Given the description of an element on the screen output the (x, y) to click on. 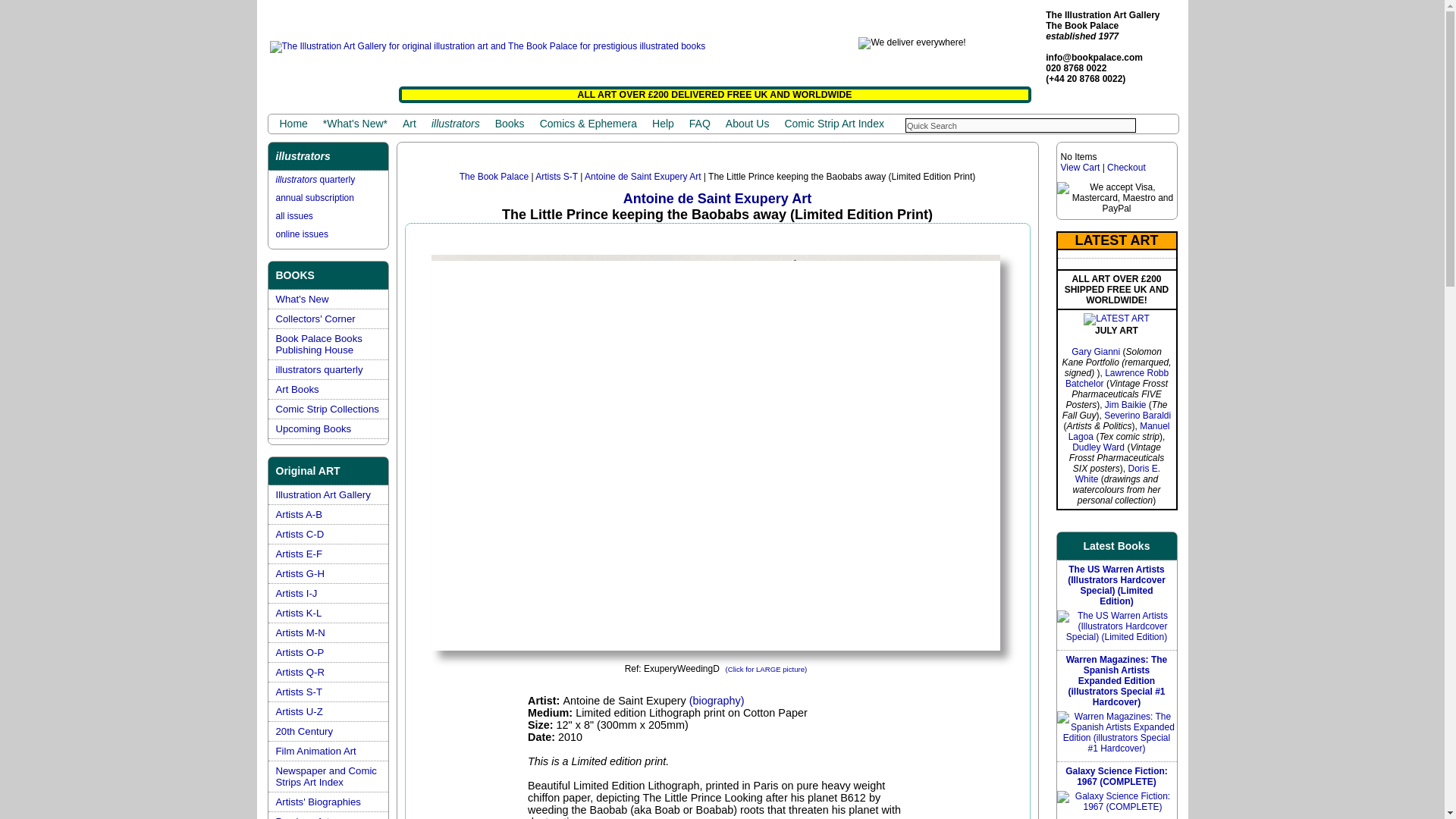
Book Palace Books Publishing House (319, 343)
Artists K-L (298, 613)
all issues (294, 215)
Book Palace Books Publishing House (319, 343)
Help (663, 123)
we deliver everywhere! (912, 42)
online issues (302, 234)
Artists O-P (300, 652)
Art (408, 123)
Artists G-H (300, 573)
Go! (1159, 124)
Artists C-D (300, 533)
Artists S-T (299, 691)
What's New (302, 298)
Artists I-J (296, 593)
